Given the description of an element on the screen output the (x, y) to click on. 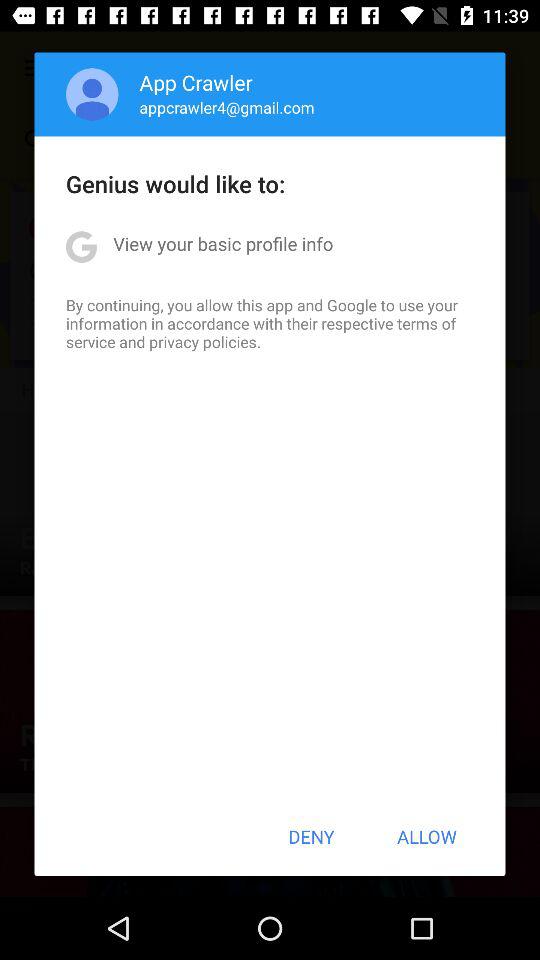
scroll to the view your basic (223, 243)
